Given the description of an element on the screen output the (x, y) to click on. 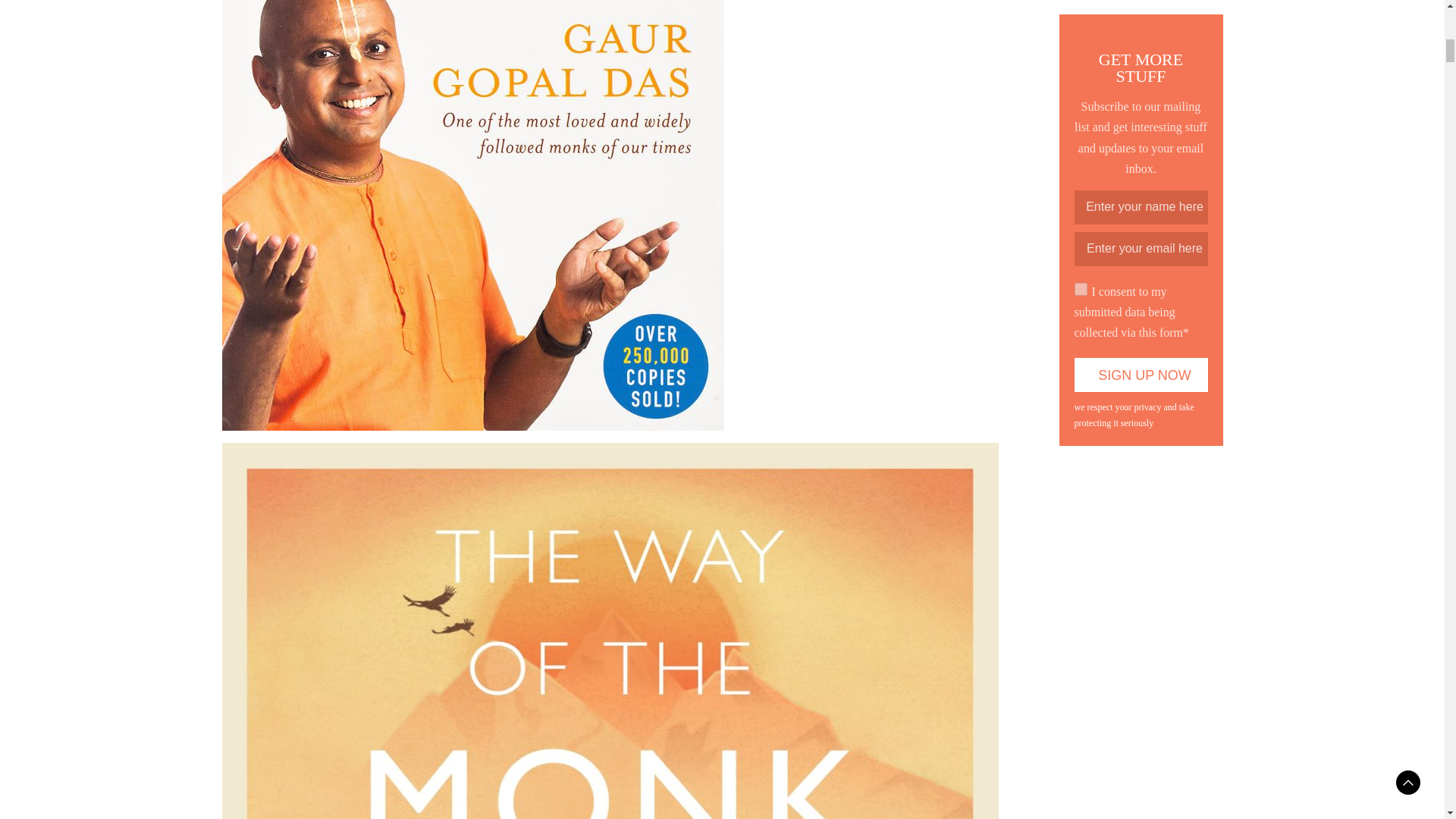
Enter your name here (1140, 207)
Sign Up Now (1140, 374)
on (1080, 288)
Enter your email here (1140, 248)
